Given the description of an element on the screen output the (x, y) to click on. 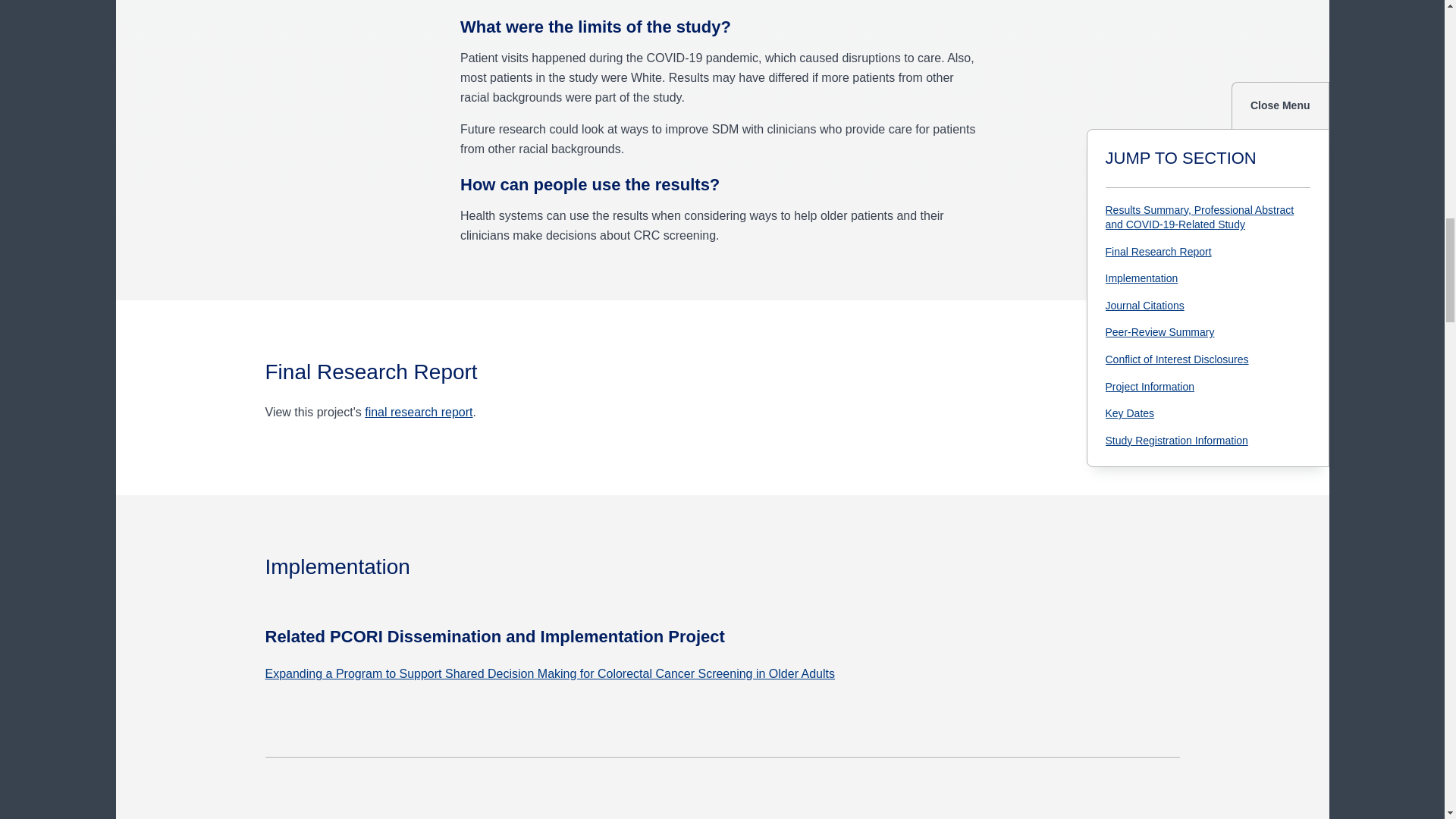
final research report (418, 411)
